Given the description of an element on the screen output the (x, y) to click on. 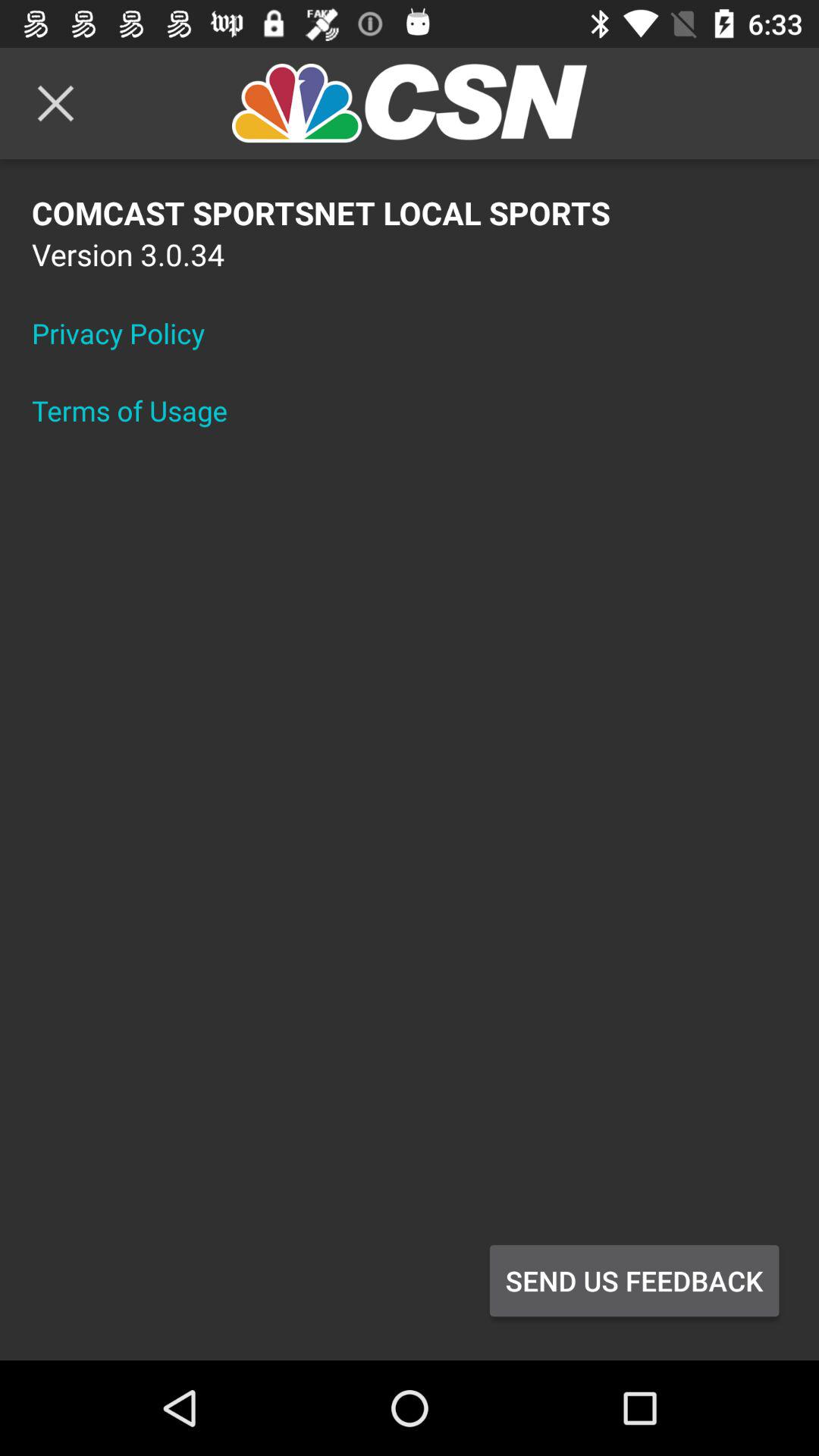
turn on icon at the bottom right corner (634, 1280)
